Given the description of an element on the screen output the (x, y) to click on. 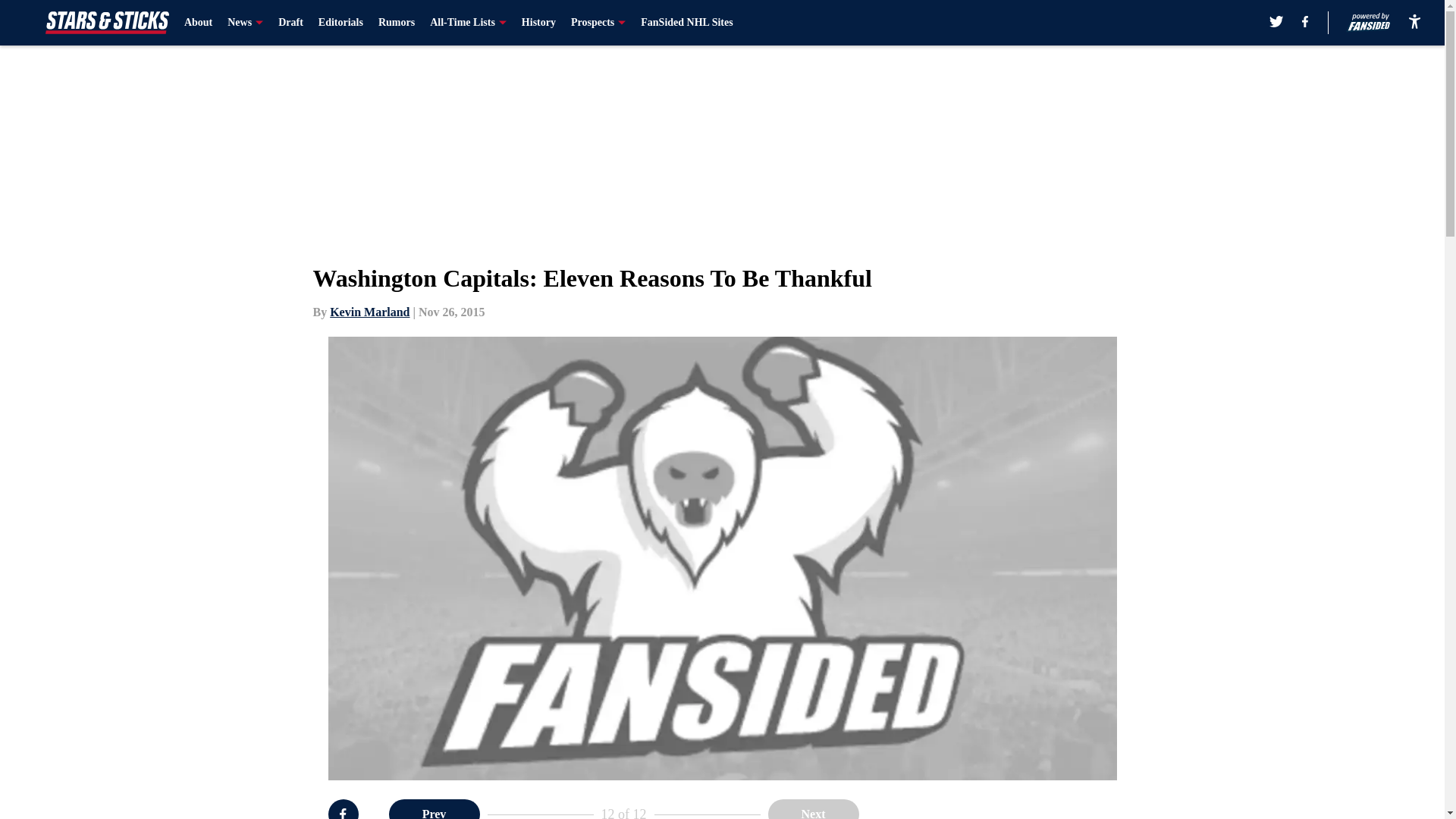
Next (813, 809)
Prev (433, 809)
3rd party ad content (1047, 809)
History (538, 22)
Draft (290, 22)
Editorials (340, 22)
About (198, 22)
Rumors (396, 22)
Kevin Marland (369, 311)
FanSided NHL Sites (686, 22)
